Given the description of an element on the screen output the (x, y) to click on. 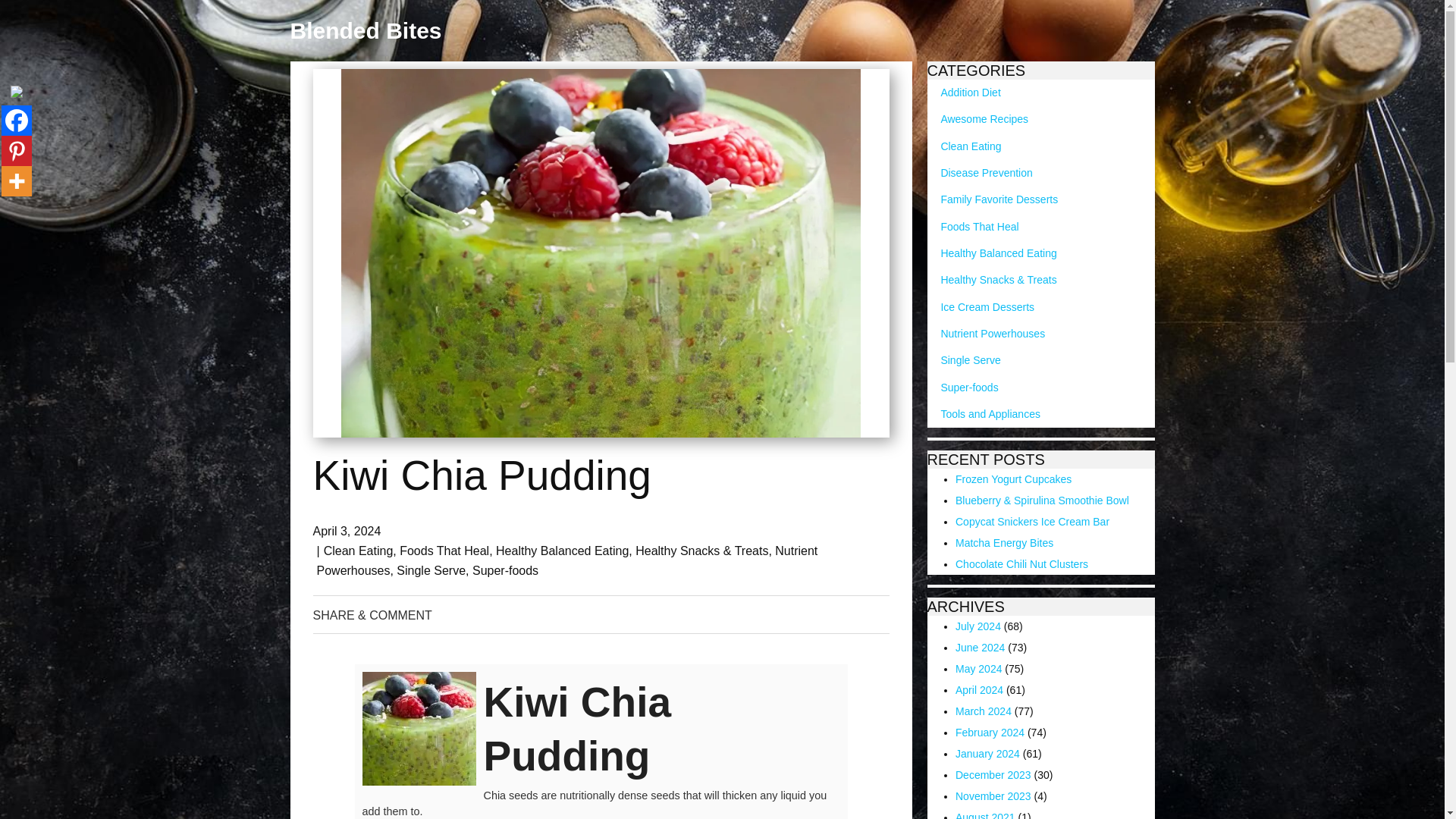
Addition Diet (963, 92)
Nutrient Powerhouses (567, 560)
Be the first one to tweet this article! (599, 615)
Disease Prevention (979, 173)
Super-foods (504, 570)
More (16, 181)
Foods That Heal (443, 550)
Clean Eating (963, 146)
Healthy Balanced Eating (562, 550)
Clean Eating (358, 550)
Pinterest (16, 150)
Family Favorite Desserts (992, 199)
Single Serve (430, 570)
Blended Bites (365, 30)
Facebook (16, 120)
